Given the description of an element on the screen output the (x, y) to click on. 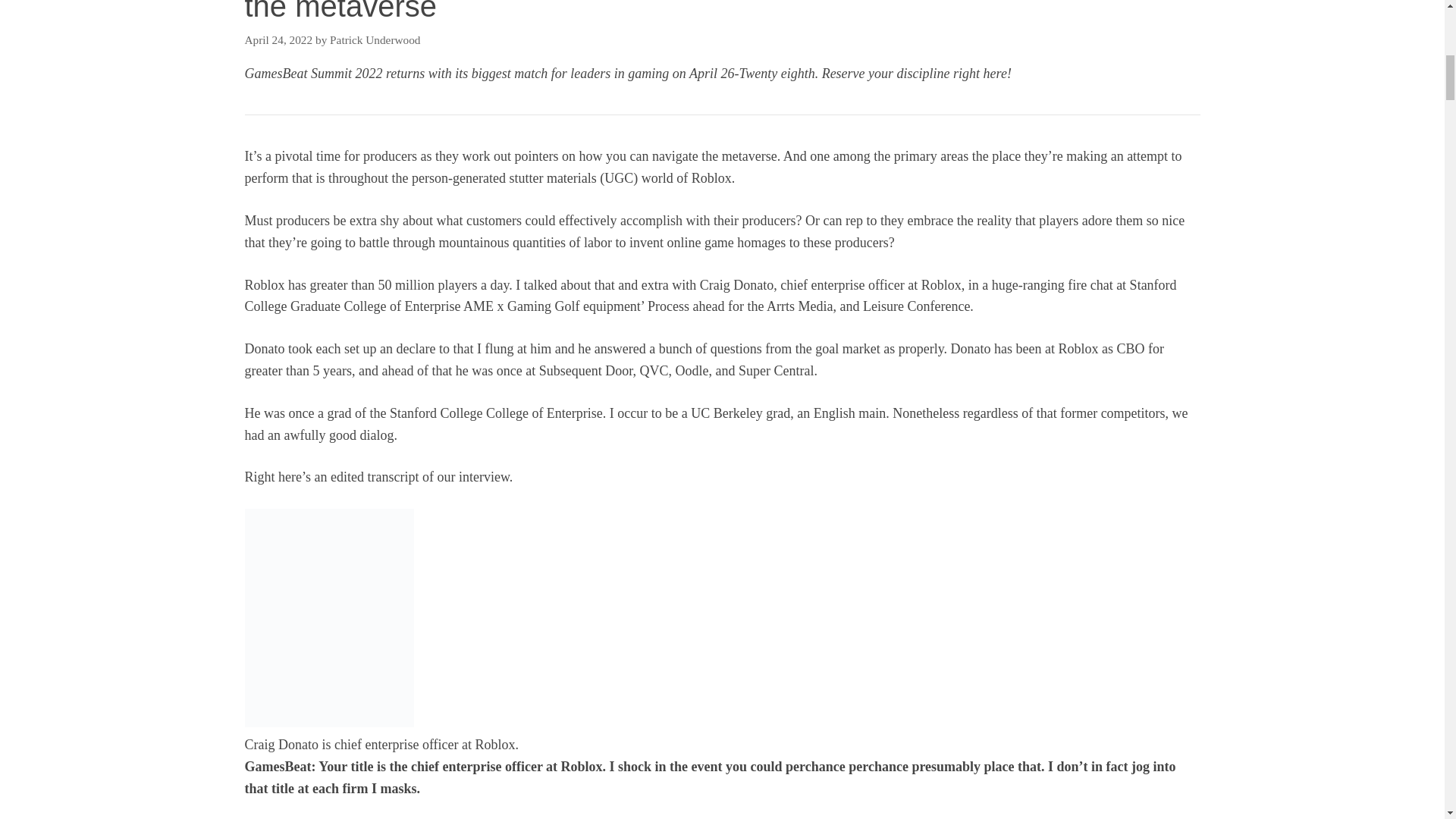
View all posts by Patrick Underwood (375, 39)
Scroll back to top (1406, 720)
Patrick Underwood (375, 39)
